Given the description of an element on the screen output the (x, y) to click on. 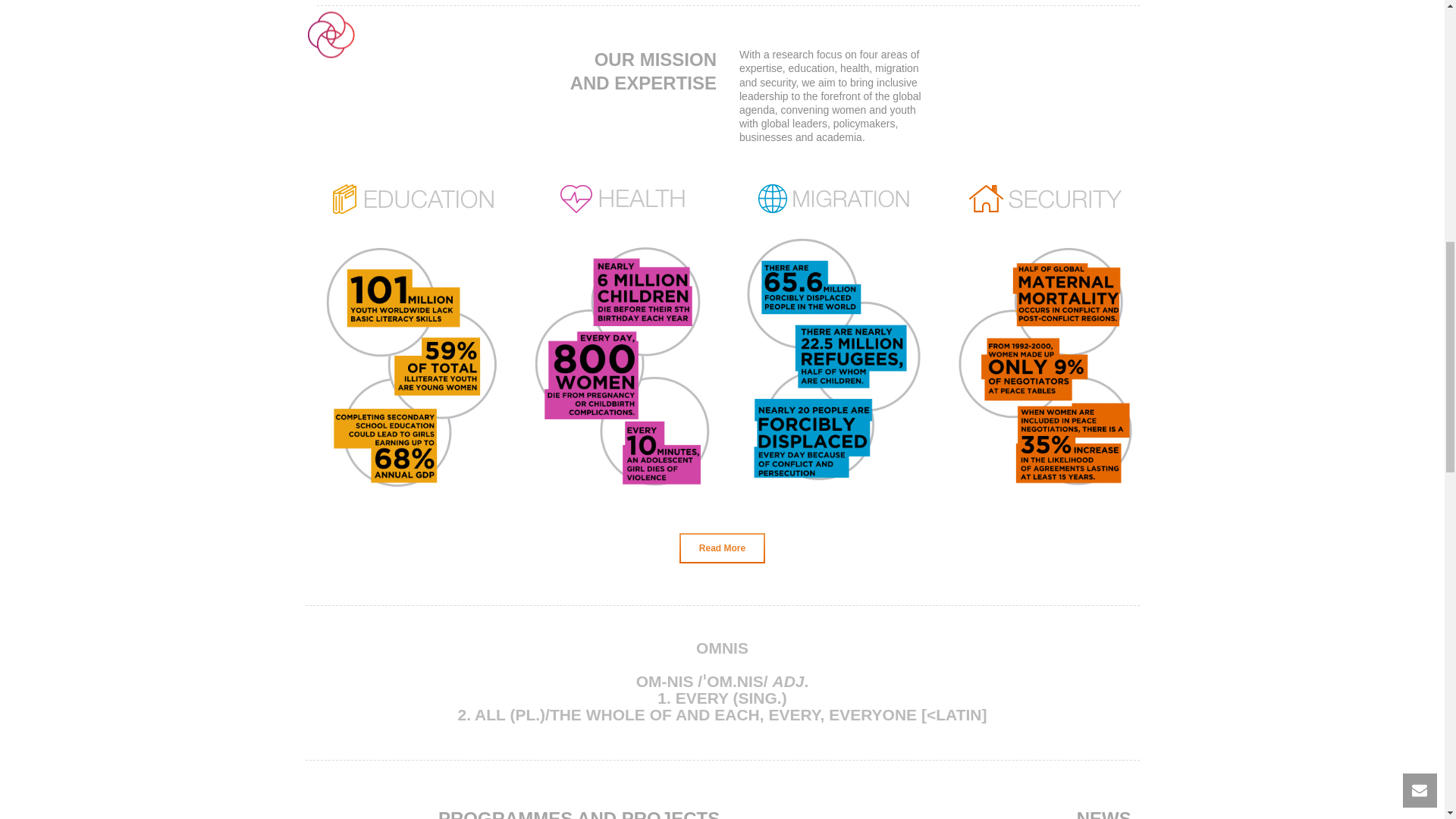
Read More (722, 548)
